Given the description of an element on the screen output the (x, y) to click on. 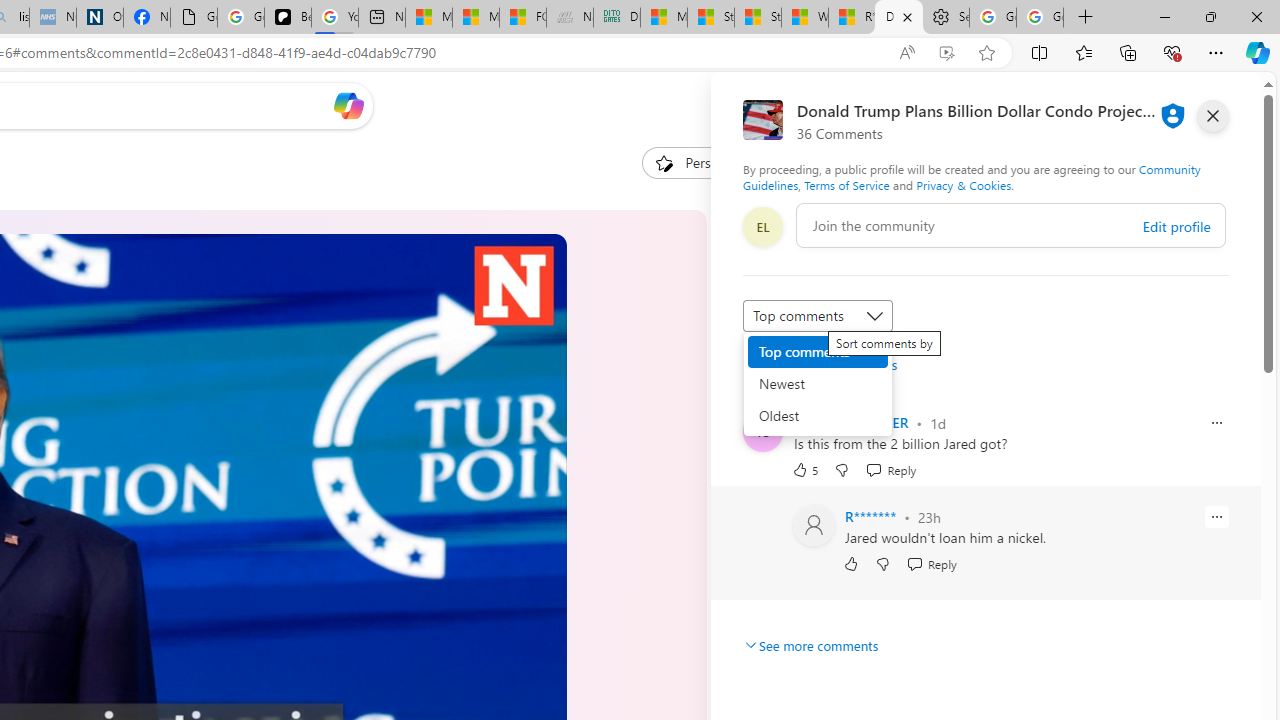
Like (850, 564)
See more comments (810, 645)
Enhance video (946, 53)
Personalize (703, 162)
Oldest (817, 416)
Open settings (1216, 105)
The Wall Street Journal (770, 645)
Navy Quest (569, 17)
